Given the description of an element on the screen output the (x, y) to click on. 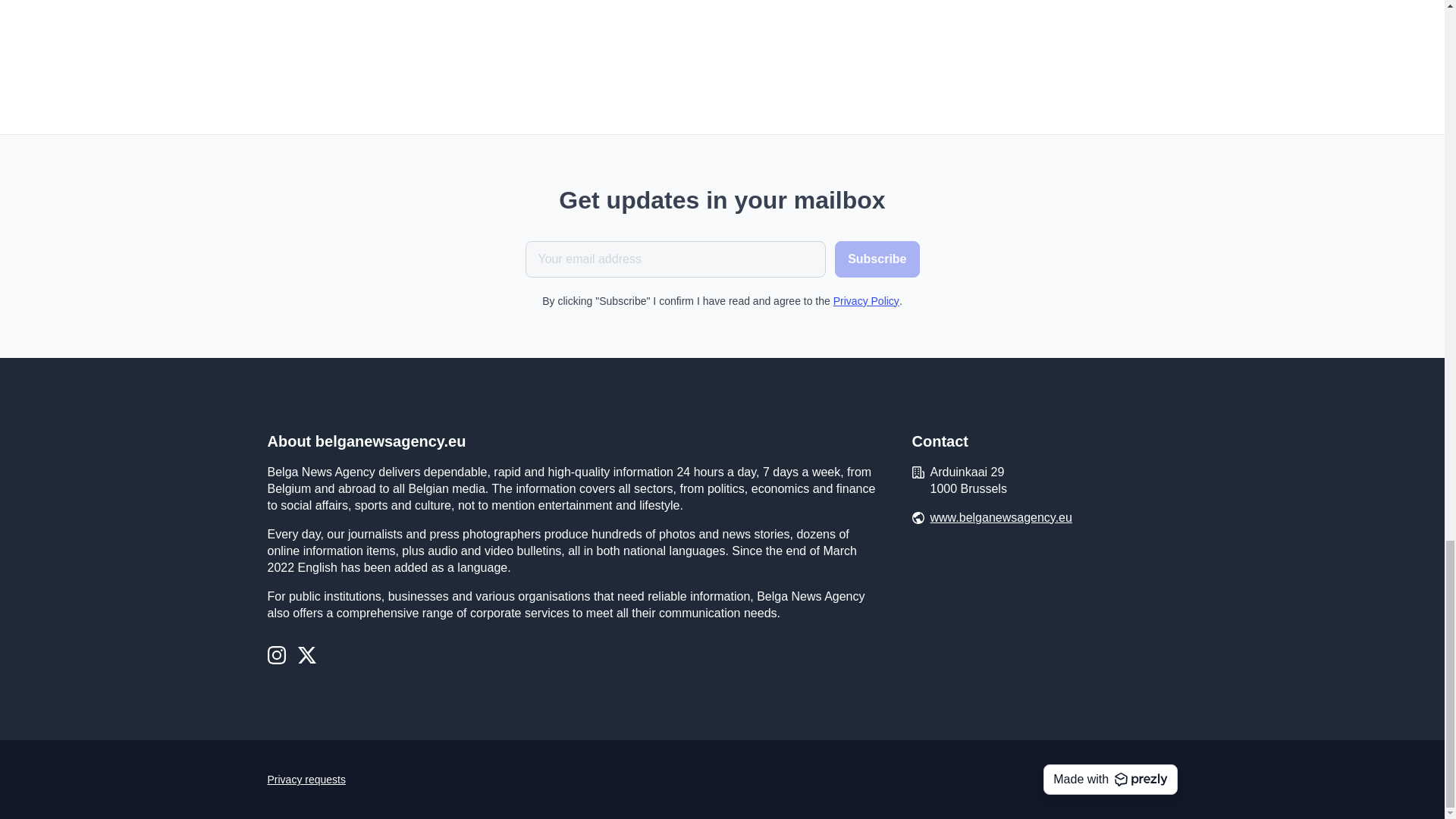
Made with (1109, 779)
Privacy requests (305, 779)
Subscribe (876, 258)
www.belganewsagency.eu (1000, 517)
Privacy Policy (865, 300)
